Given the description of an element on the screen output the (x, y) to click on. 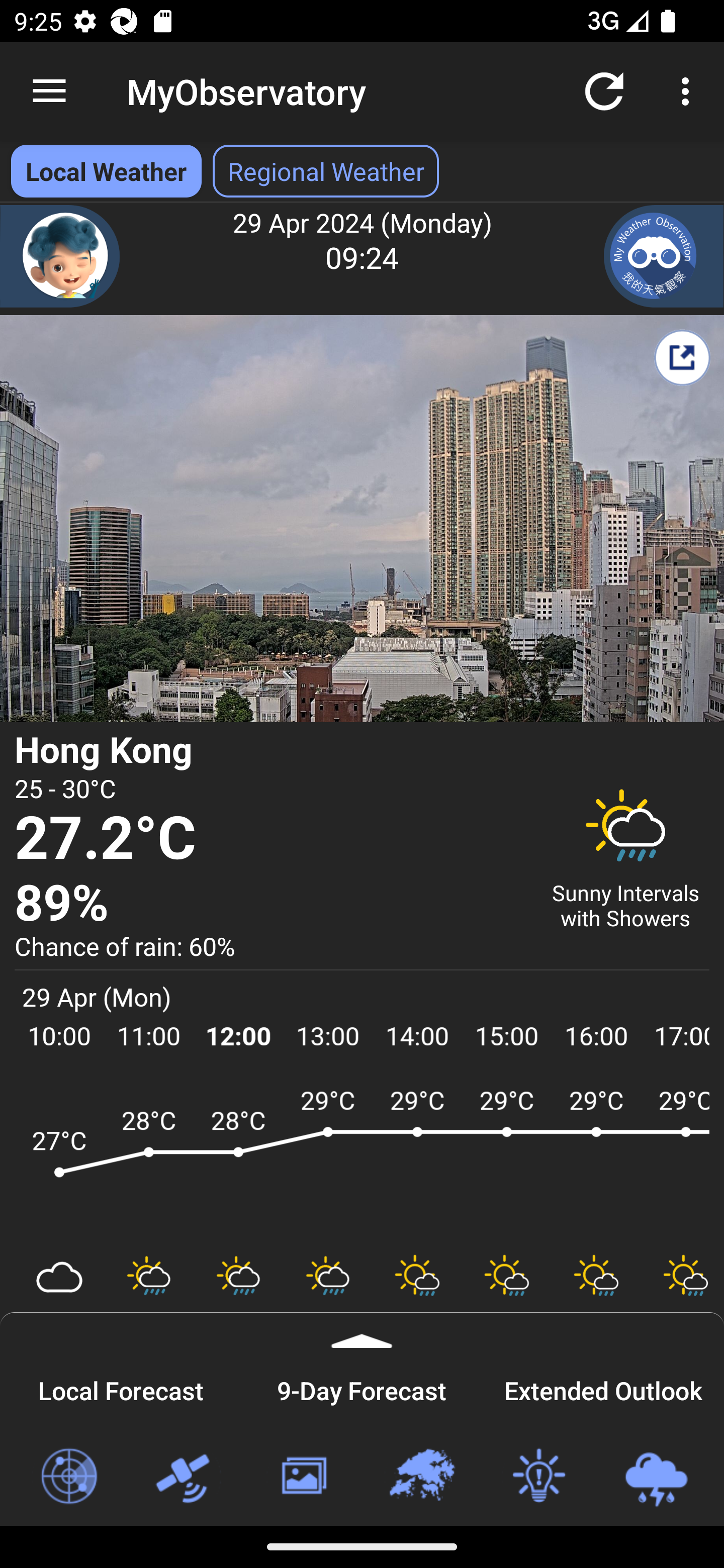
Navigate up (49, 91)
Refresh (604, 90)
More options (688, 90)
Local Weather Local Weather selected (105, 170)
Regional Weather Select Regional Weather (325, 170)
Chatbot (60, 256)
My Weather Observation (663, 256)
Share My Weather Report (681, 357)
27.2°C Temperature
27.2 degree Celsius (270, 839)
89% Relative Humidity
89 percent (270, 903)
ARWF (361, 1160)
Expand (362, 1330)
Local Forecast (120, 1387)
Extended Outlook (603, 1387)
Radar Images (68, 1476)
Satellite Images (185, 1476)
Weather Photos (302, 1476)
Regional Weather (420, 1476)
Weather Tips (537, 1476)
Loc-based Rain & Lightning Forecast (655, 1476)
